Given the description of an element on the screen output the (x, y) to click on. 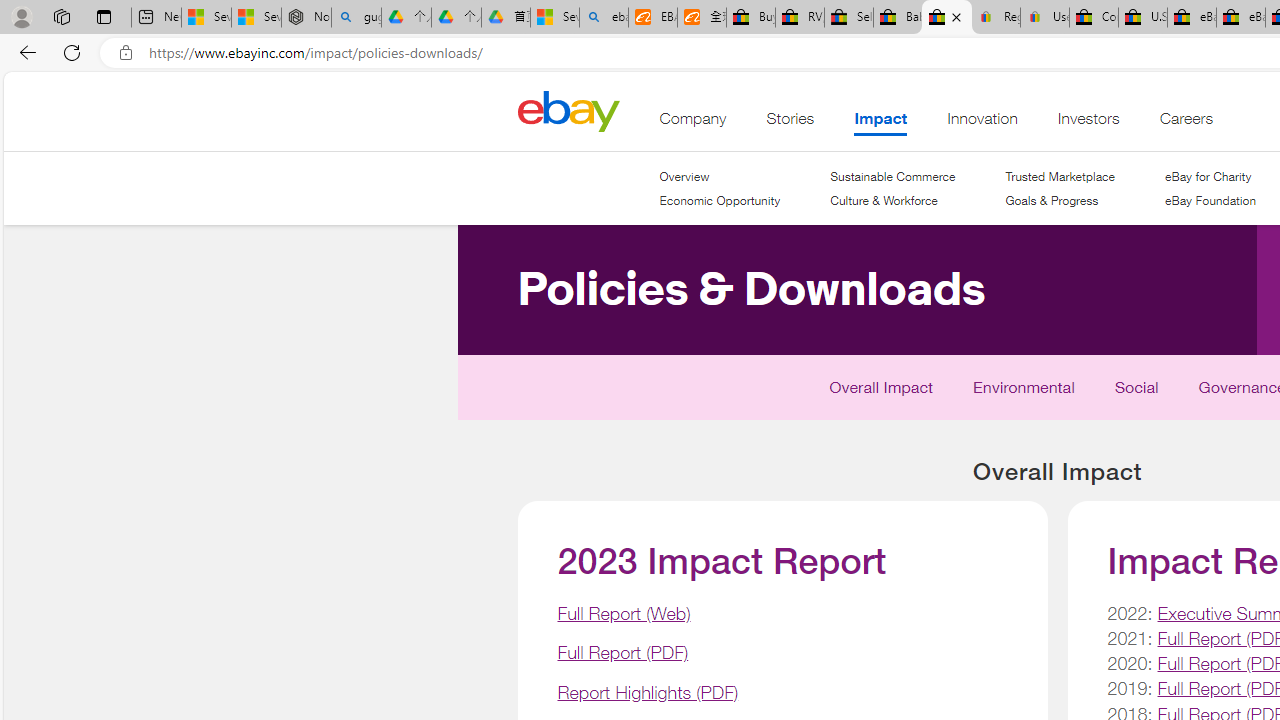
Innovation (982, 123)
eBay Foundation (1209, 200)
Full Report (PDF) (622, 652)
Report Highlights (PDF) (647, 691)
Baby Keepsakes & Announcements for sale | eBay (897, 17)
Culture & Workforce (892, 201)
eBay for Charity (1209, 176)
RV, Trailer & Camper Steps & Ladders for sale | eBay (799, 17)
Trusted Marketplace (1059, 176)
Impact (880, 123)
User Privacy Notice | eBay (1044, 17)
Sustainable Commerce (892, 176)
Sell worldwide with eBay (848, 17)
